Given the description of an element on the screen output the (x, y) to click on. 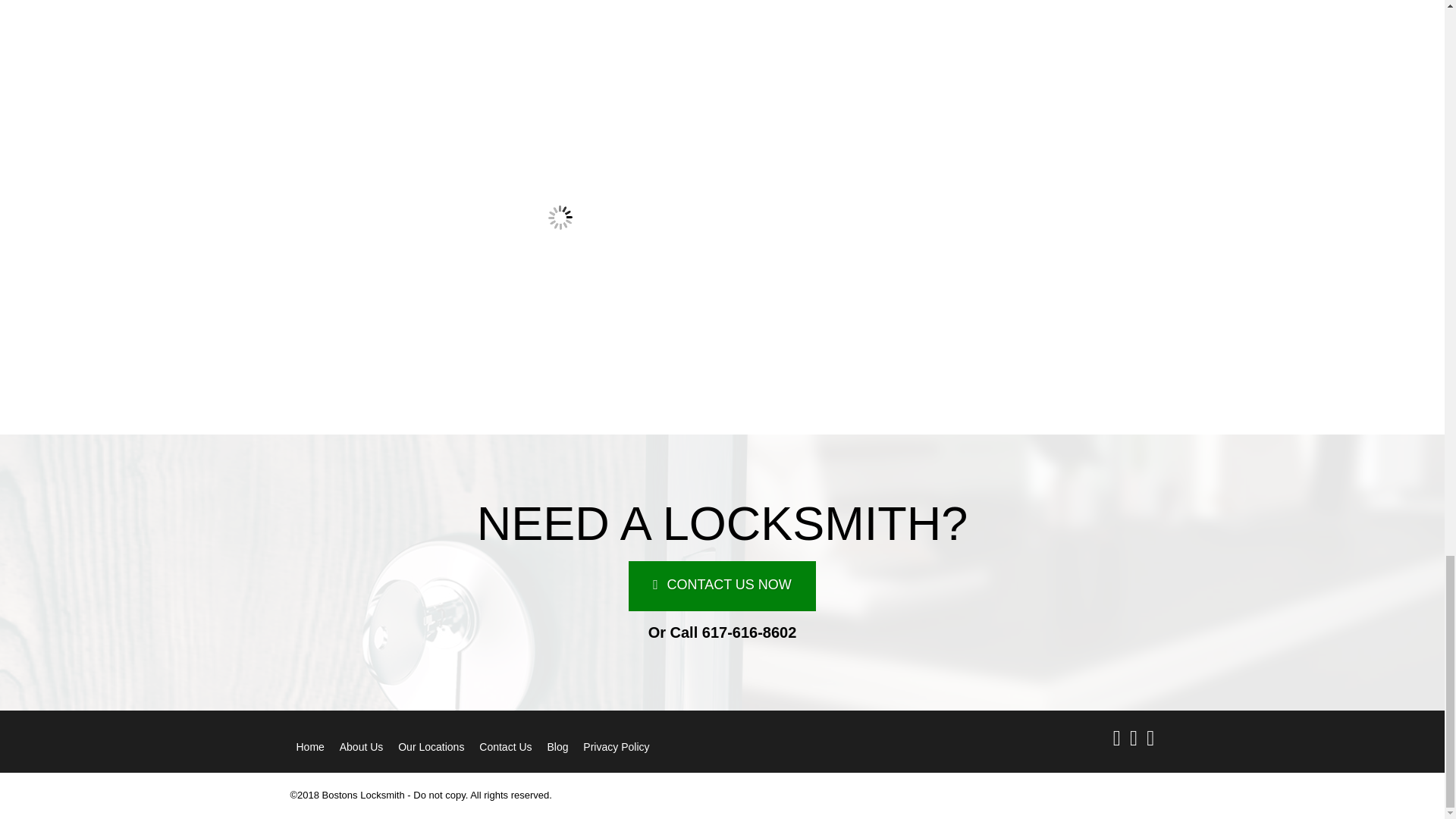
Privacy Policy (615, 747)
Home (309, 747)
Blog (556, 747)
CONTACT US NOW (721, 585)
About Us (361, 747)
Our Locations (430, 747)
Contact Us (505, 747)
